Given the description of an element on the screen output the (x, y) to click on. 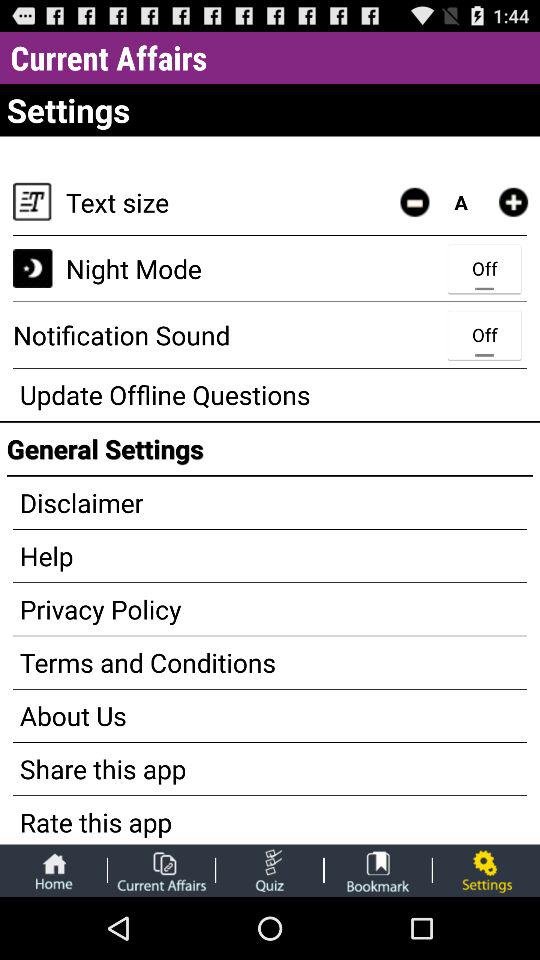
go to home screen (53, 870)
